Given the description of an element on the screen output the (x, y) to click on. 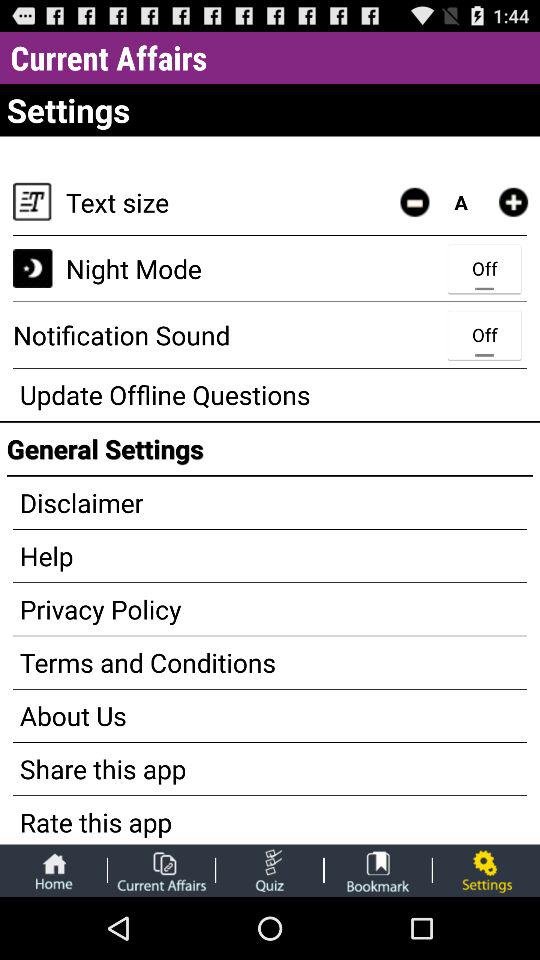
go to home screen (53, 870)
